Given the description of an element on the screen output the (x, y) to click on. 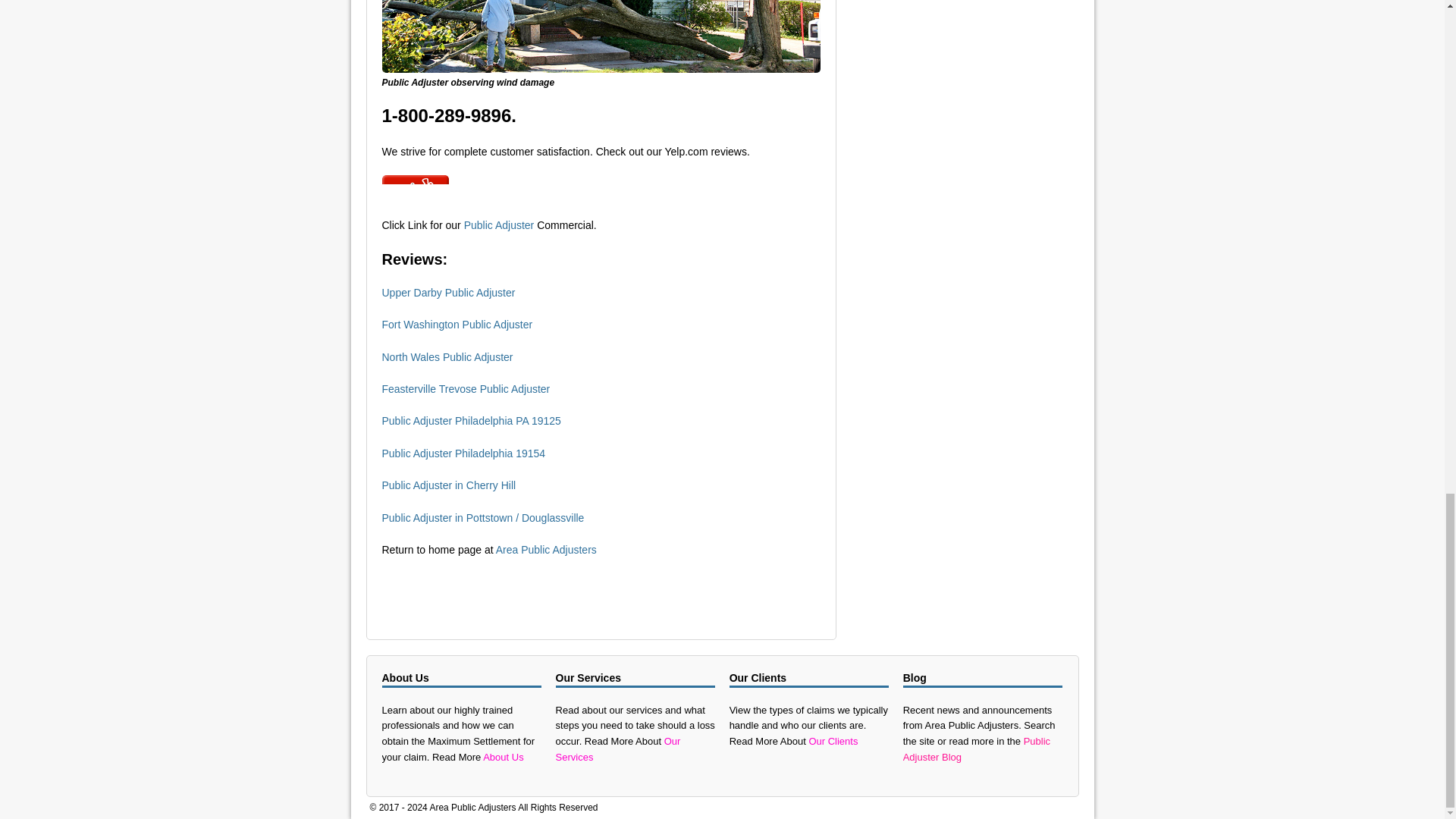
Upper Darby Public Adjuster  (449, 292)
Public Adjuster in Cherry Hill (448, 485)
About Us (501, 756)
Feasterville Trevose Public Adjuster (465, 388)
Public Adjuster (499, 224)
Public Adjuster Philadelphia PA 19125 (470, 420)
North Wales Public Adjuster (447, 357)
Our Services (618, 748)
Public Adjuster Philadelphia 19154 (463, 453)
Fort Washington Public Adjuster (456, 324)
